Given the description of an element on the screen output the (x, y) to click on. 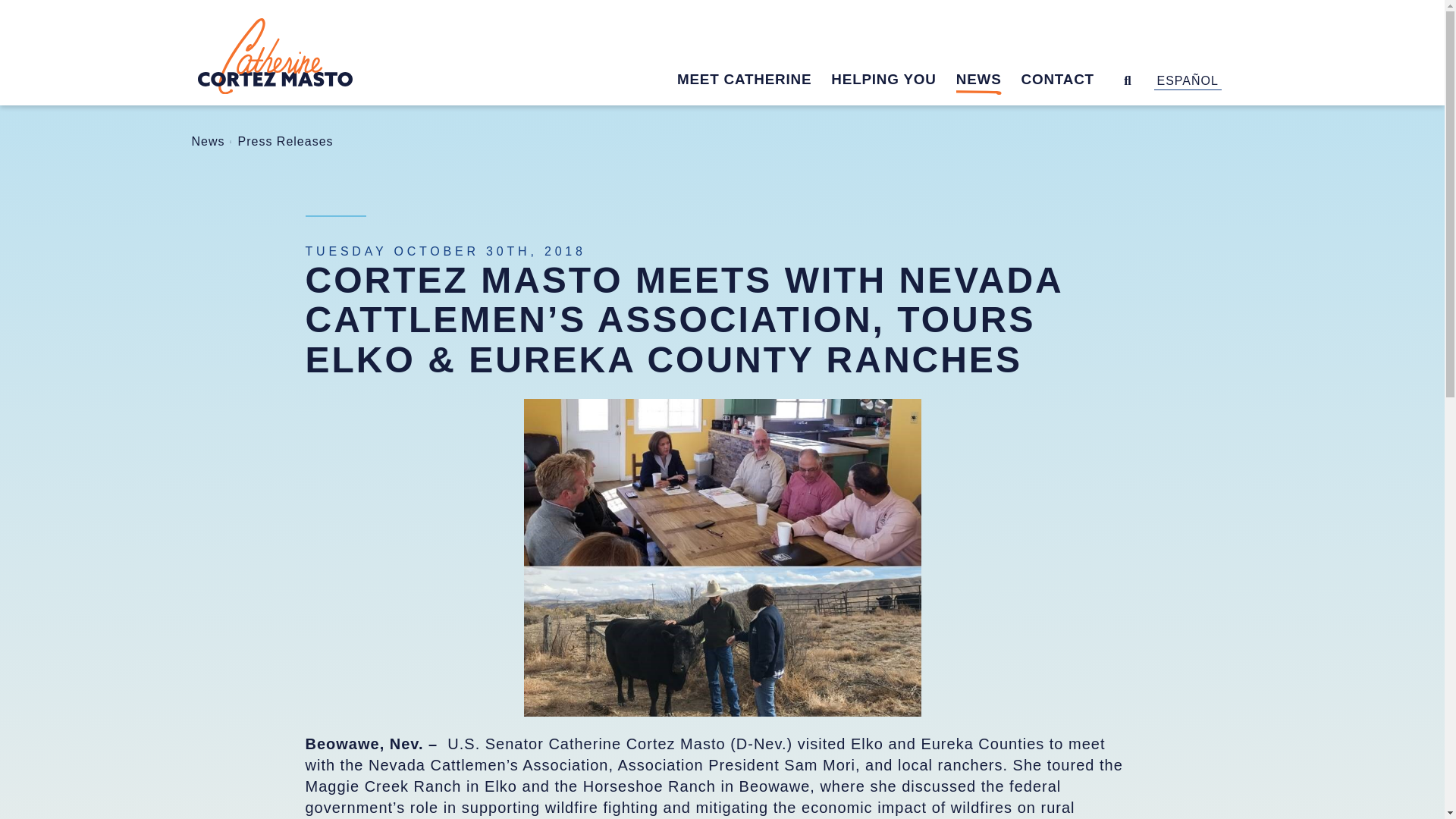
MEET CATHERINE (754, 81)
Press Releases (285, 141)
News (207, 141)
HELPING YOU (893, 81)
Elko Visit Release (721, 557)
